Given the description of an element on the screen output the (x, y) to click on. 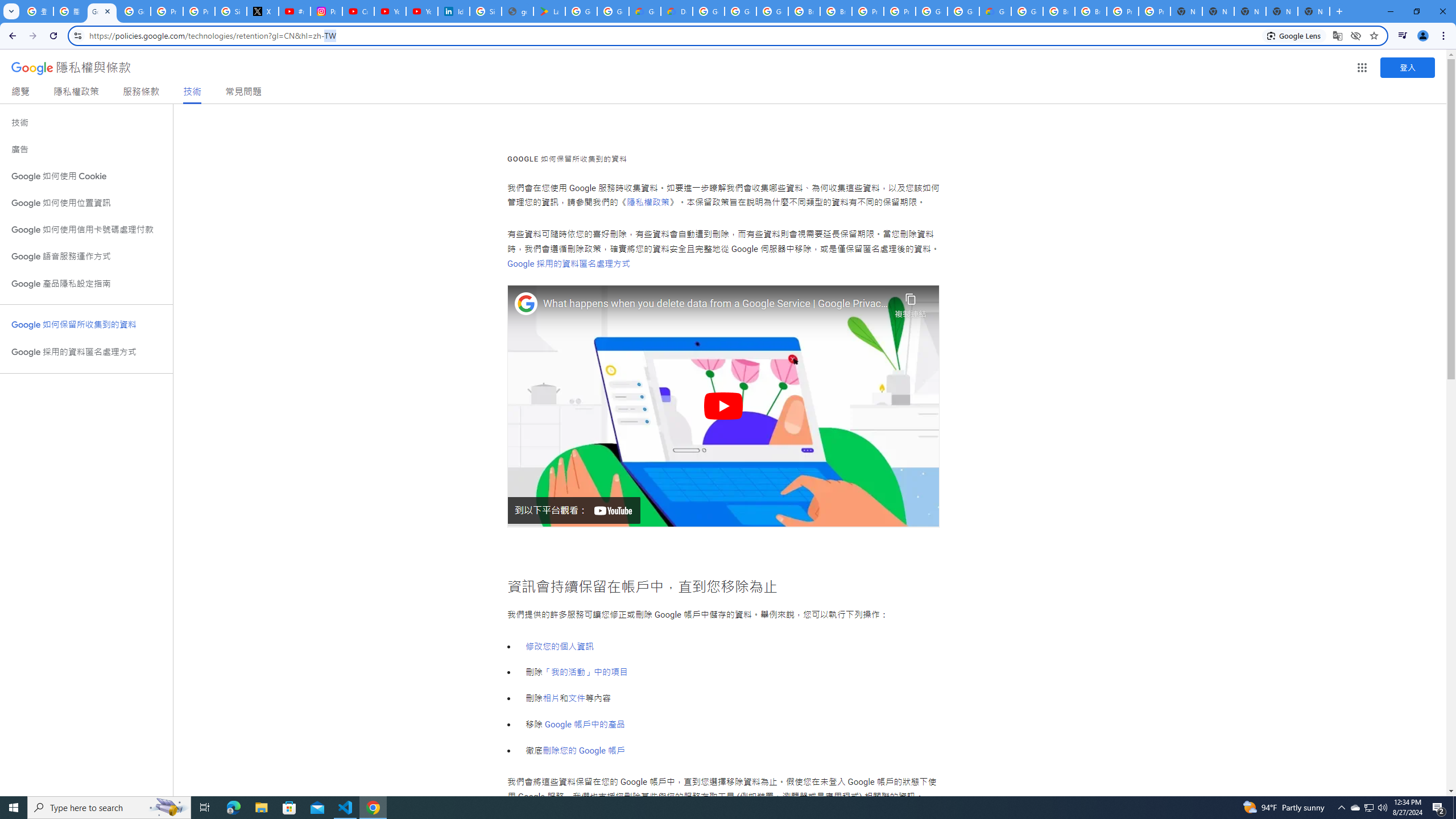
Sign in - Google Accounts (230, 11)
Restore (1416, 11)
Address and search bar (672, 35)
Browse Chrome as a guest - Computer - Google Chrome Help (804, 11)
Google Cloud Platform (963, 11)
YouTube Culture & Trends - YouTube Top 10, 2021 (421, 11)
Browse Chrome as a guest - Computer - Google Chrome Help (1091, 11)
Google Cloud Platform (931, 11)
Google Cloud Platform (1027, 11)
Chrome (1445, 35)
